Given the description of an element on the screen output the (x, y) to click on. 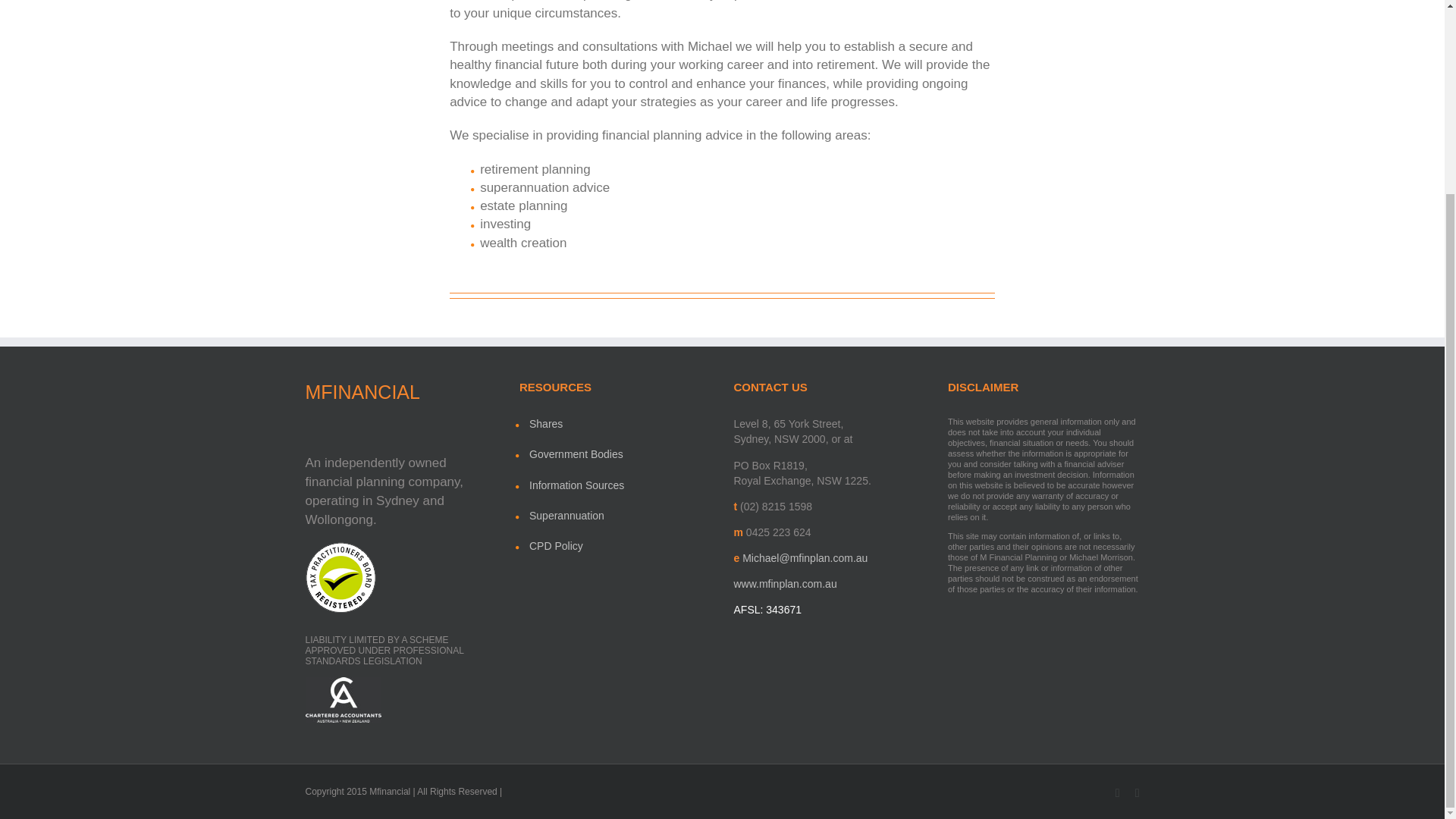
Shares (620, 423)
Government Bodies (620, 453)
www.mfinplan.com.au (785, 583)
Superannuation (620, 515)
CPD Policy (620, 545)
Information Sources (620, 484)
